Given the description of an element on the screen output the (x, y) to click on. 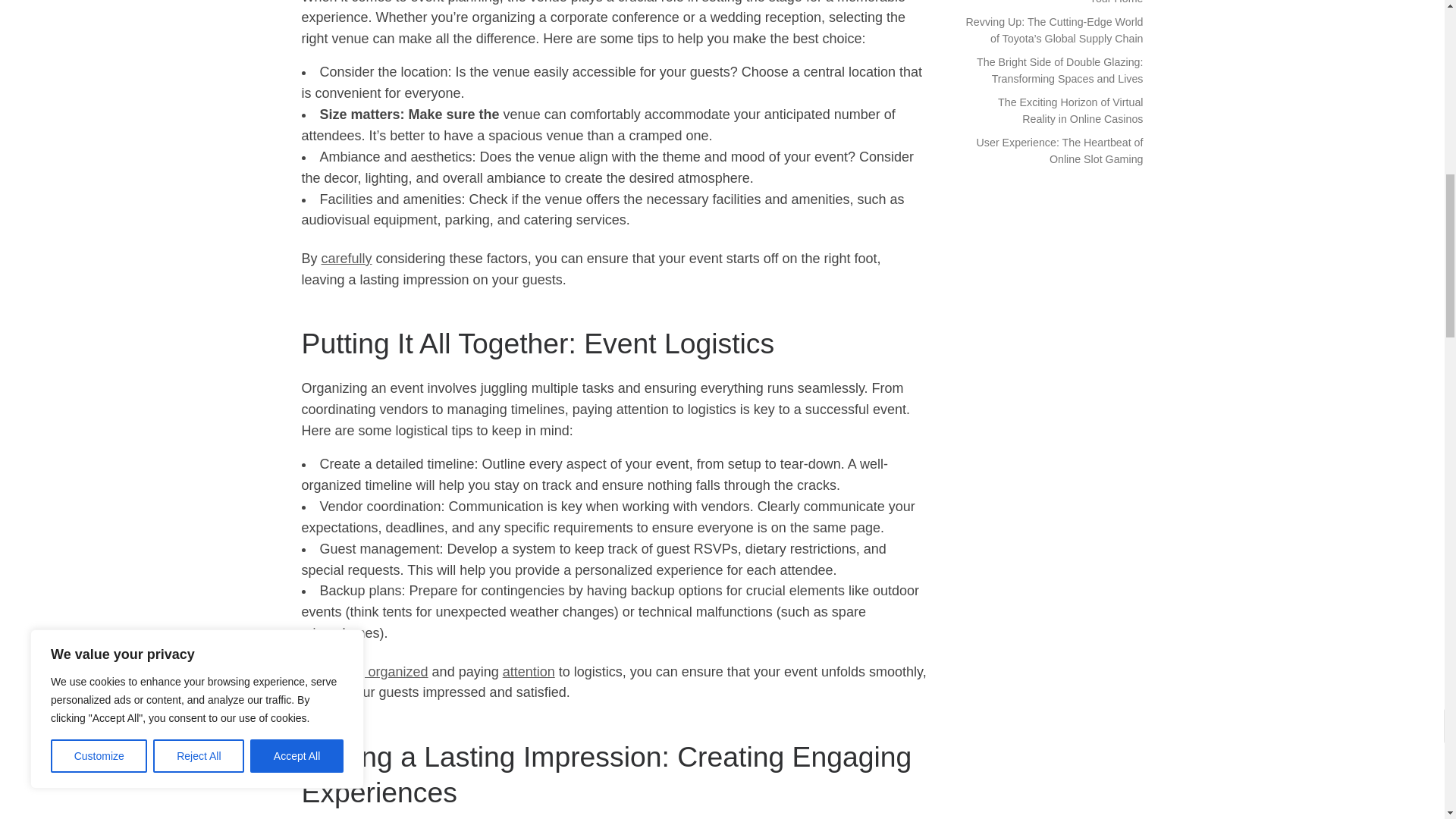
carefully (346, 258)
attention (528, 671)
staying organized (374, 671)
